Given the description of an element on the screen output the (x, y) to click on. 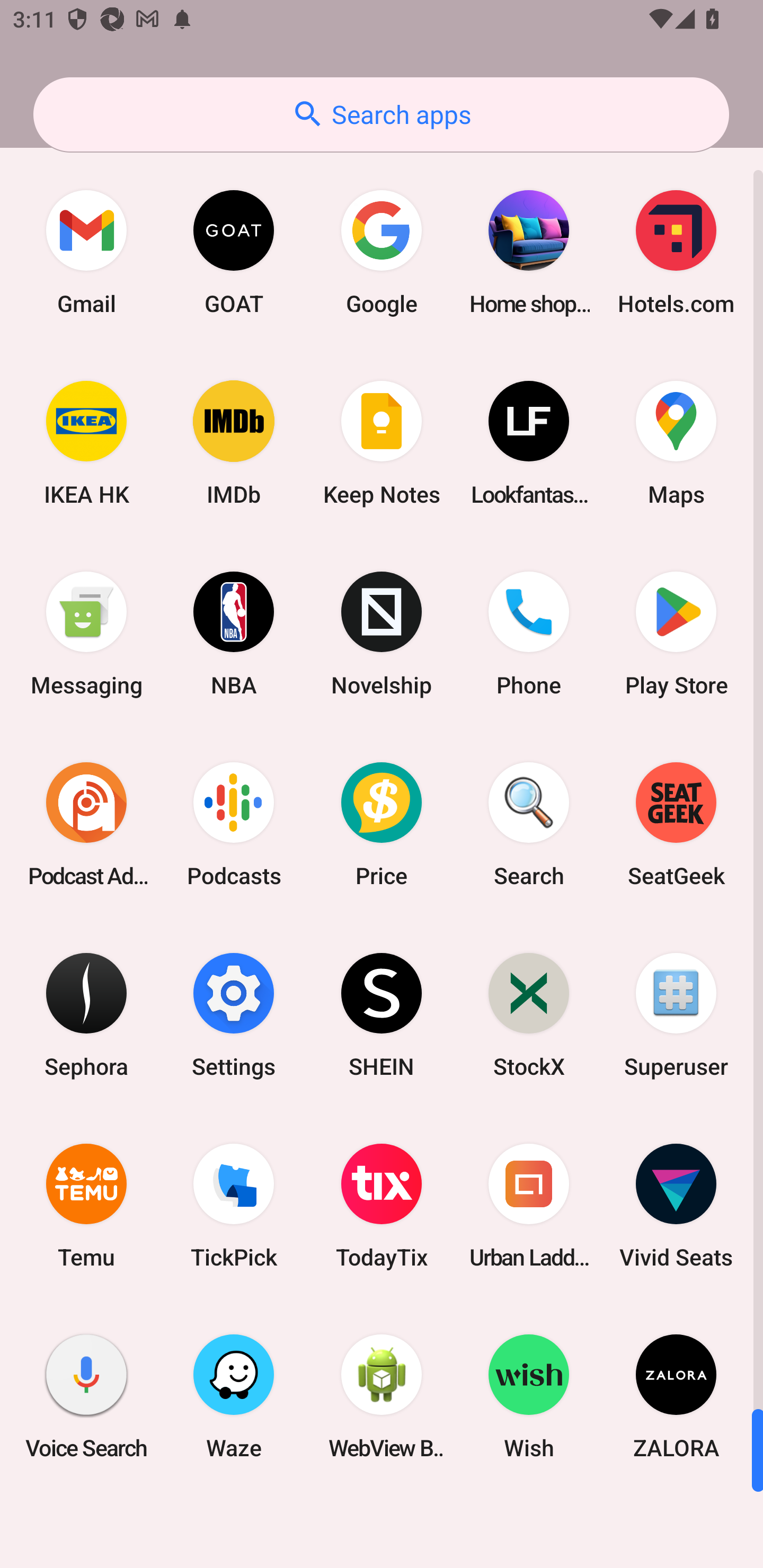
  Search apps (381, 114)
Gmail (86, 252)
GOAT (233, 252)
Google (381, 252)
Home shopping (528, 252)
Hotels.com (676, 252)
IKEA HK (86, 442)
IMDb (233, 442)
Keep Notes (381, 442)
Lookfantastic (528, 442)
Maps (676, 442)
Messaging (86, 633)
NBA (233, 633)
Novelship (381, 633)
Phone (528, 633)
Play Store (676, 633)
Podcast Addict (86, 823)
Podcasts (233, 823)
Price (381, 823)
Search (528, 823)
SeatGeek (676, 823)
Sephora (86, 1014)
Settings (233, 1014)
SHEIN (381, 1014)
StockX (528, 1014)
Superuser (676, 1014)
Temu (86, 1205)
TickPick (233, 1205)
TodayTix (381, 1205)
Urban Ladder (528, 1205)
Vivid Seats (676, 1205)
Voice Search (86, 1396)
Waze (233, 1396)
WebView Browser Tester (381, 1396)
Wish (528, 1396)
ZALORA (676, 1396)
